Given the description of an element on the screen output the (x, y) to click on. 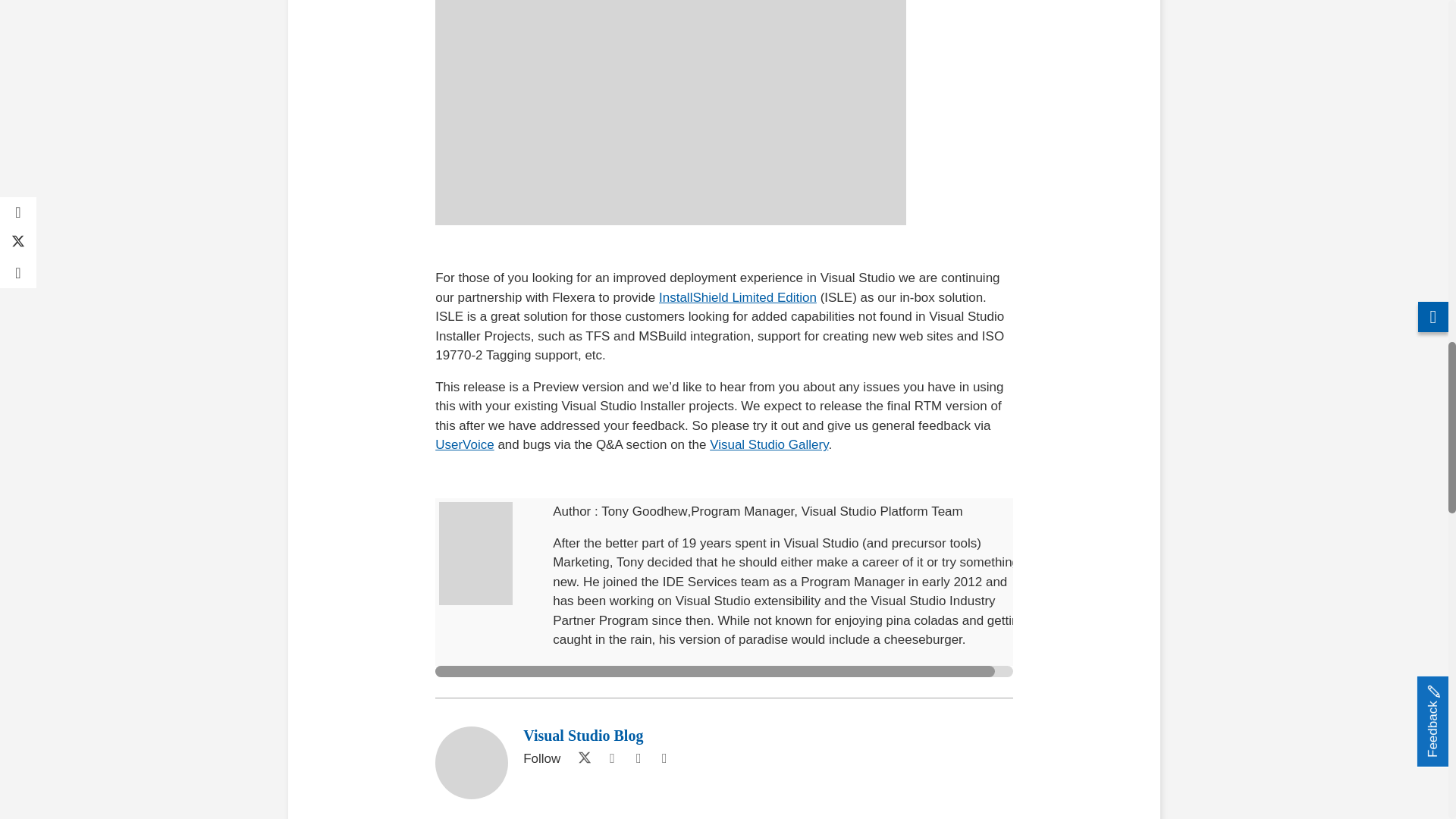
RSS Feed (664, 758)
Visual Studio Installer Projects (670, 112)
Twitter (581, 758)
Website (637, 758)
Linkedin (611, 758)
